Given the description of an element on the screen output the (x, y) to click on. 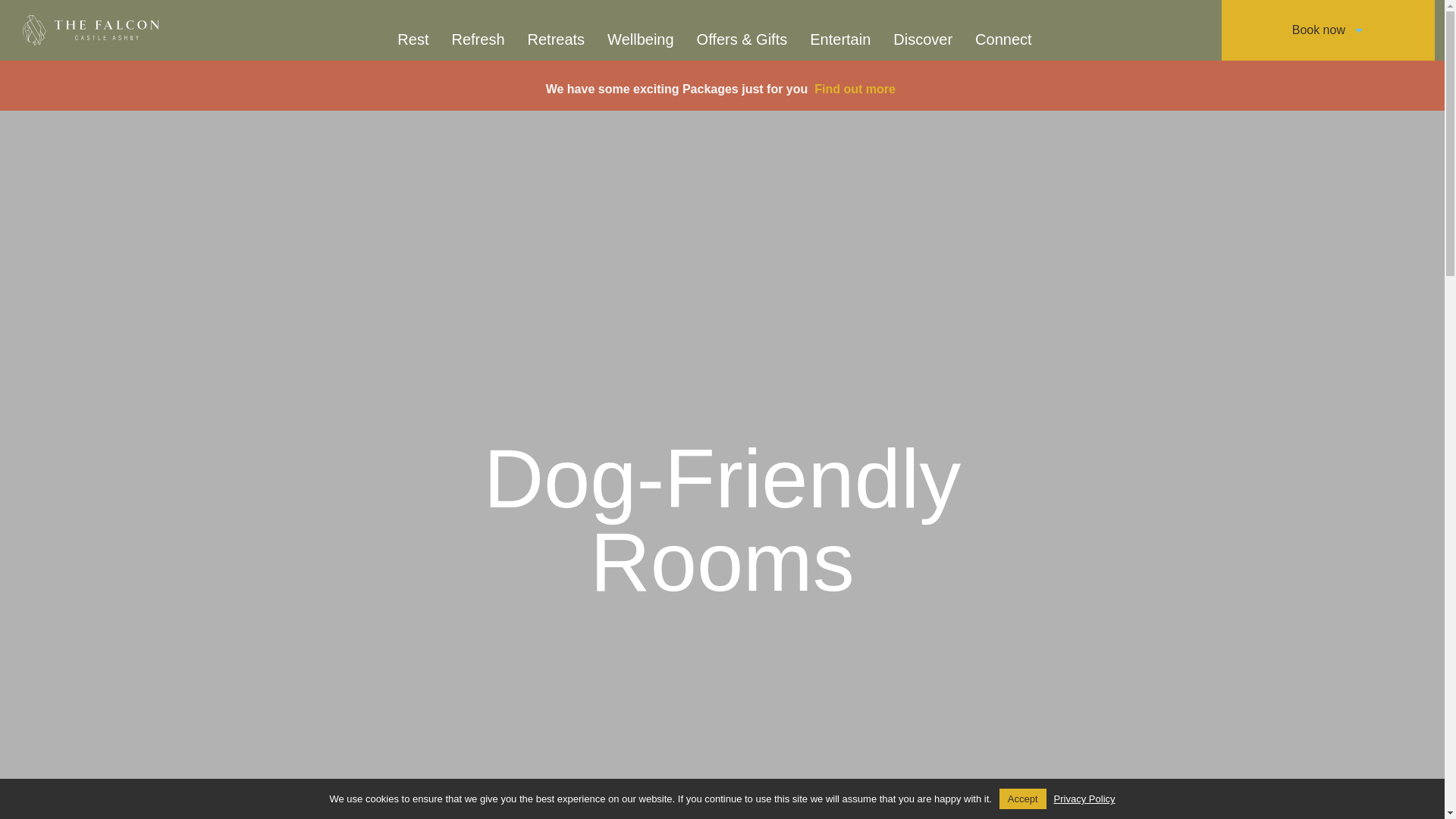
Retreats (556, 39)
Entertain (839, 39)
Wellbeing (639, 39)
Book now (1327, 30)
Connect (1003, 39)
Discover (922, 39)
Refresh (477, 39)
